Given the description of an element on the screen output the (x, y) to click on. 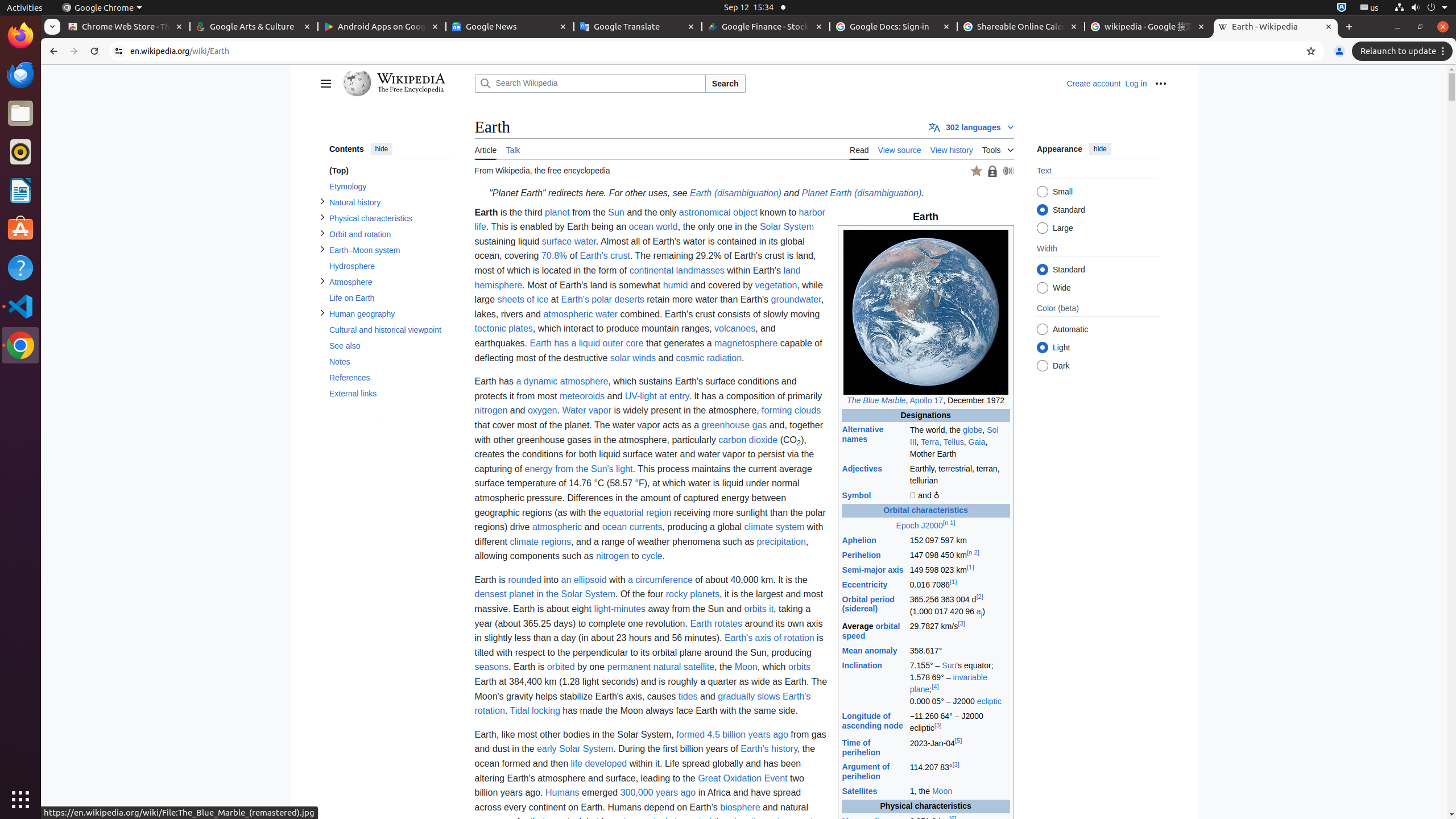
gradually slows Earth's rotation Element type: link (642, 703)
References Element type: link (390, 377)
Earth's axis of rotation Element type: link (769, 638)
:1.21/StatusNotifierItem Element type: menu (1369, 7)
Aphelion Element type: link (858, 539)
